Given the description of an element on the screen output the (x, y) to click on. 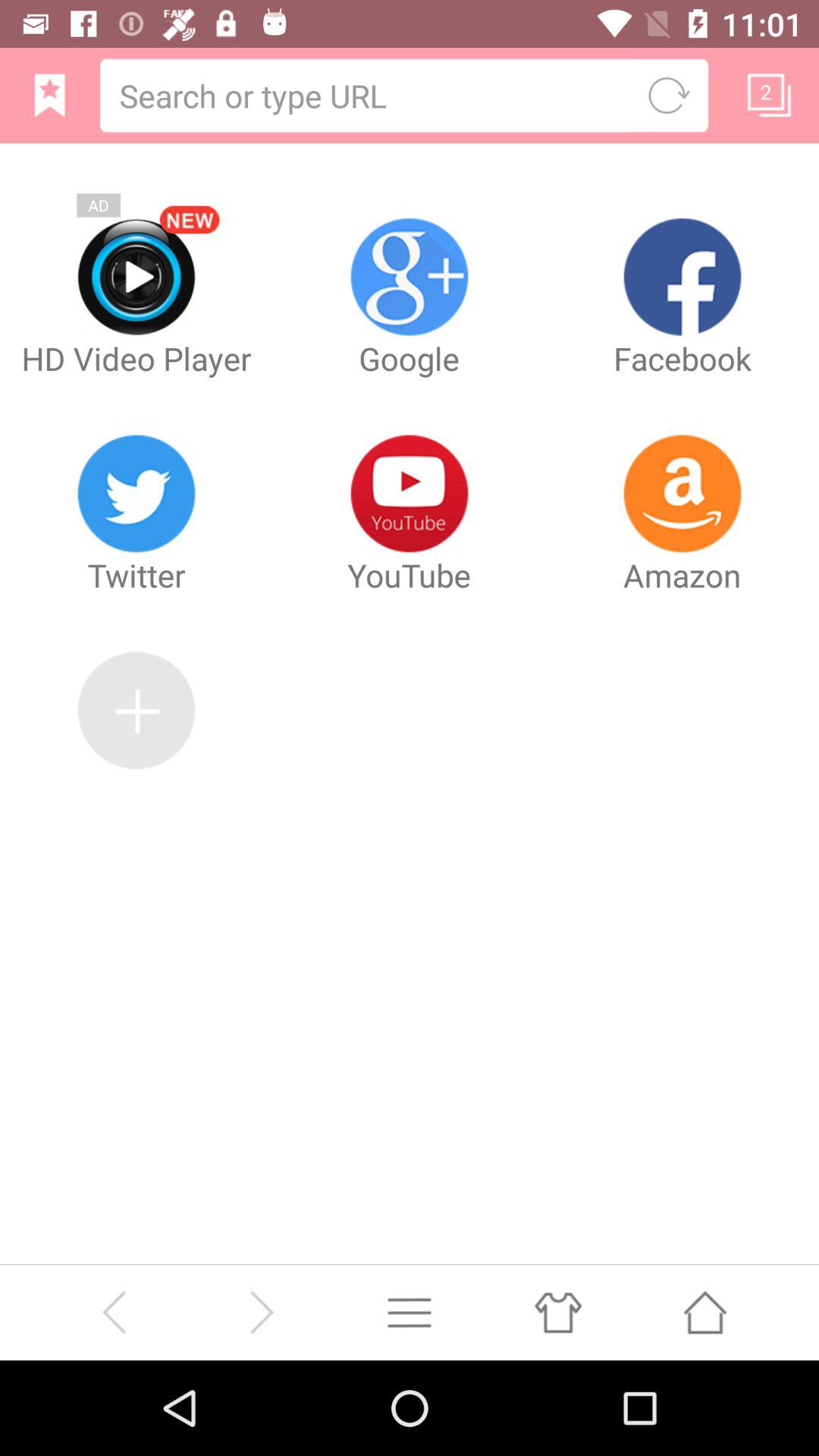
option (409, 1312)
